Given the description of an element on the screen output the (x, y) to click on. 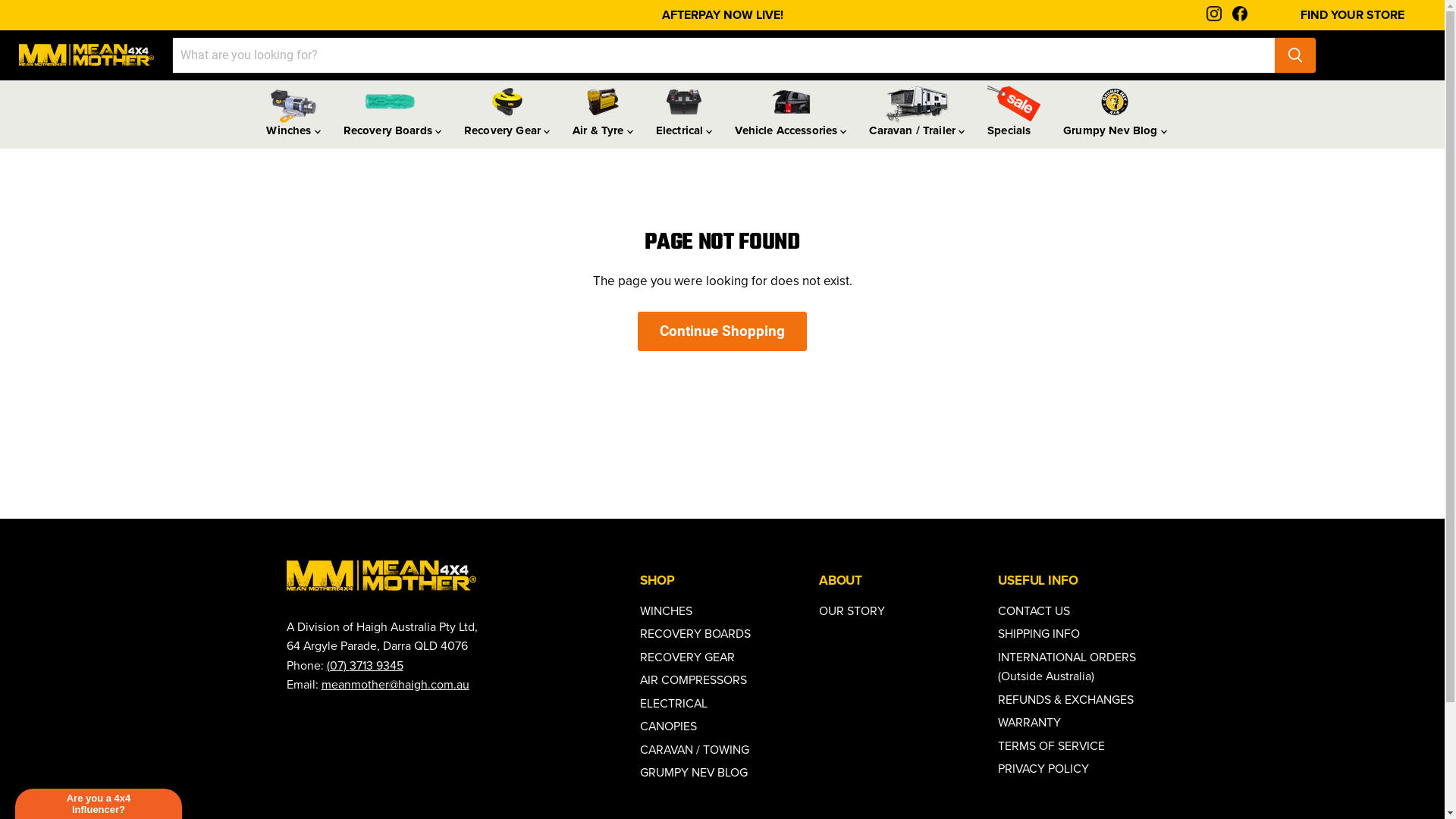
RECOVERY BOARDS Element type: text (695, 633)
3713 9345 Element type: text (375, 665)
ELECTRICAL Element type: text (673, 703)
Continue Shopping Element type: text (721, 331)
AIR COMPRESSORS Element type: text (693, 679)
RECOVERY GEAR Element type: text (687, 656)
WARRANTY Element type: text (1028, 722)
(07) Element type: text (337, 665)
PRIVACY POLICY Element type: text (1042, 768)
FIND YOUR STORE   Element type: text (1355, 15)
View cart Element type: text (1338, 58)
OUR STORY Element type: text (851, 610)
meanmother@haigh.com.au Element type: text (395, 684)
Specials Element type: text (1013, 114)
CARAVAN / TOWING Element type: text (694, 749)
SHIPPING INFO Element type: text (1038, 633)
CONTACT US Element type: text (1033, 610)
INTERNATIONAL ORDERS (Outside Australia) Element type: text (1066, 666)
REFUNDS & EXCHANGES Element type: text (1065, 699)
CANOPIES Element type: text (668, 725)
GRUMPY NEV BLOG Element type: text (693, 772)
Close Element type: text (1426, 49)
WINCHES Element type: text (666, 610)
TERMS OF SERVICE Element type: text (1050, 745)
